Given the description of an element on the screen output the (x, y) to click on. 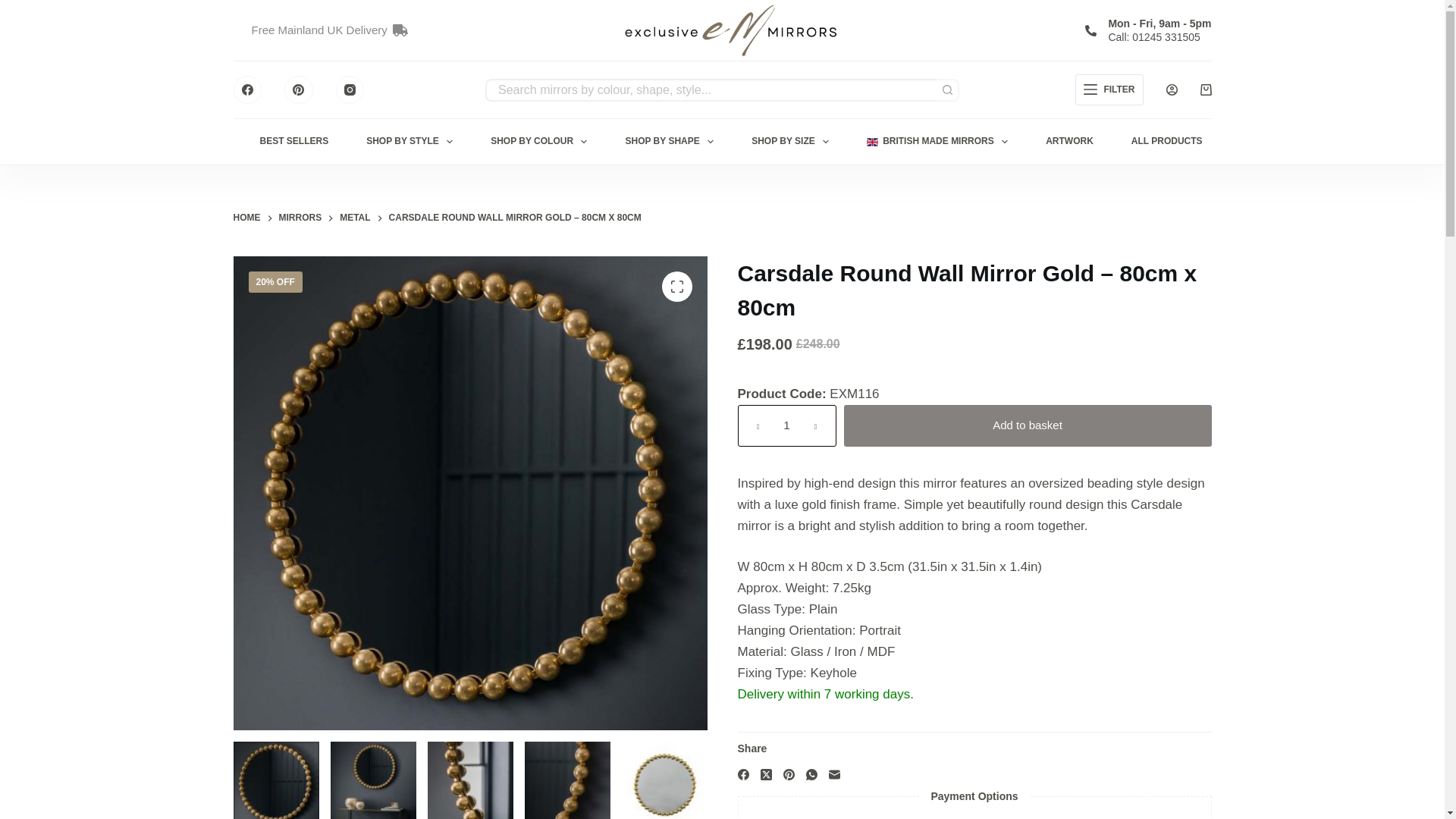
Skip to content (15, 7)
1 (785, 425)
Search for... (710, 89)
